Given the description of an element on the screen output the (x, y) to click on. 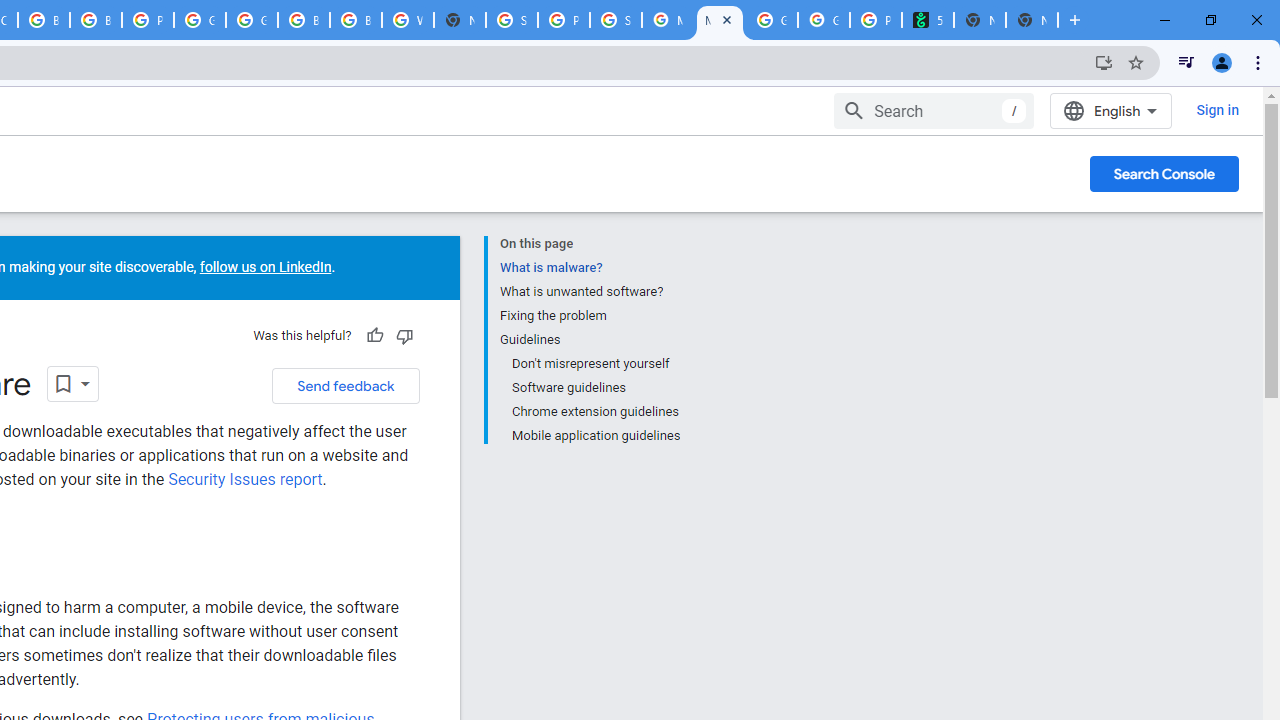
Fixing the problem (589, 315)
Guidelines (589, 340)
Browse Chrome as a guest - Computer - Google Chrome Help (355, 20)
Security Issues report (244, 479)
follow us on LinkedIn (264, 267)
Google Cloud Platform (251, 20)
English (1110, 110)
Software guidelines (594, 387)
Install Google Developers (1103, 62)
Not helpful (404, 336)
